Given the description of an element on the screen output the (x, y) to click on. 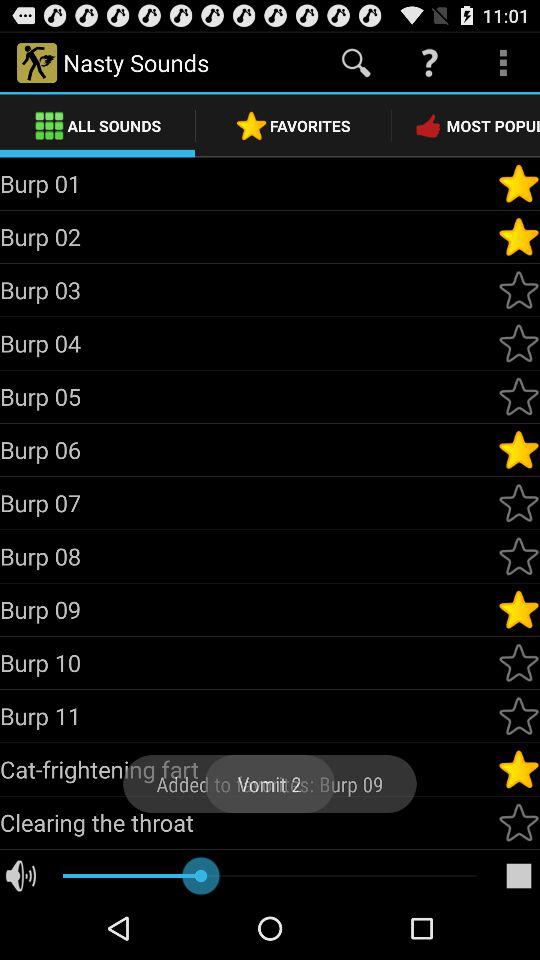
favorite (519, 396)
